Given the description of an element on the screen output the (x, y) to click on. 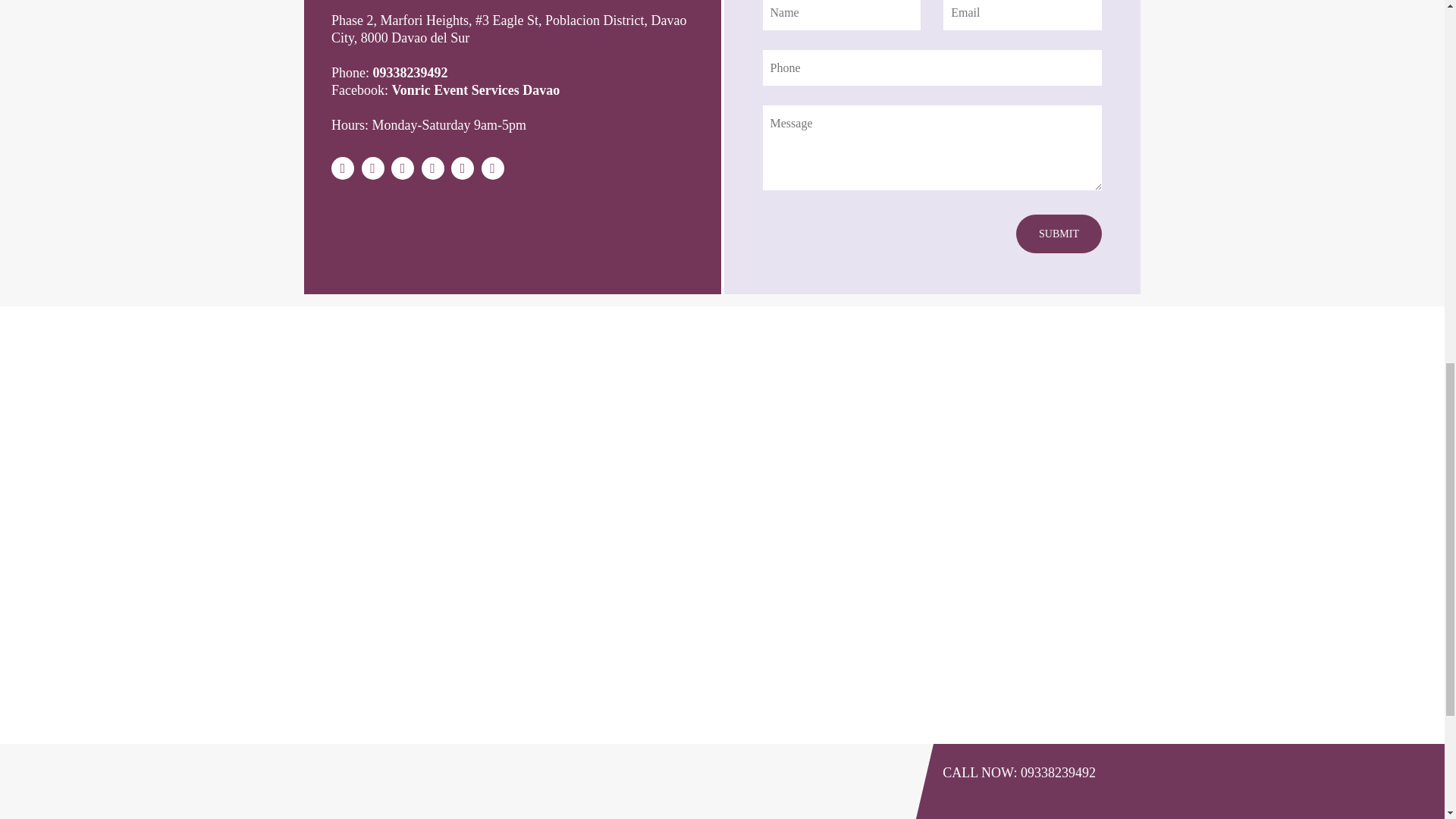
09338239492 (410, 72)
Submit (1059, 233)
Vonric Event Services Davao (475, 89)
Submit (1059, 233)
